Given the description of an element on the screen output the (x, y) to click on. 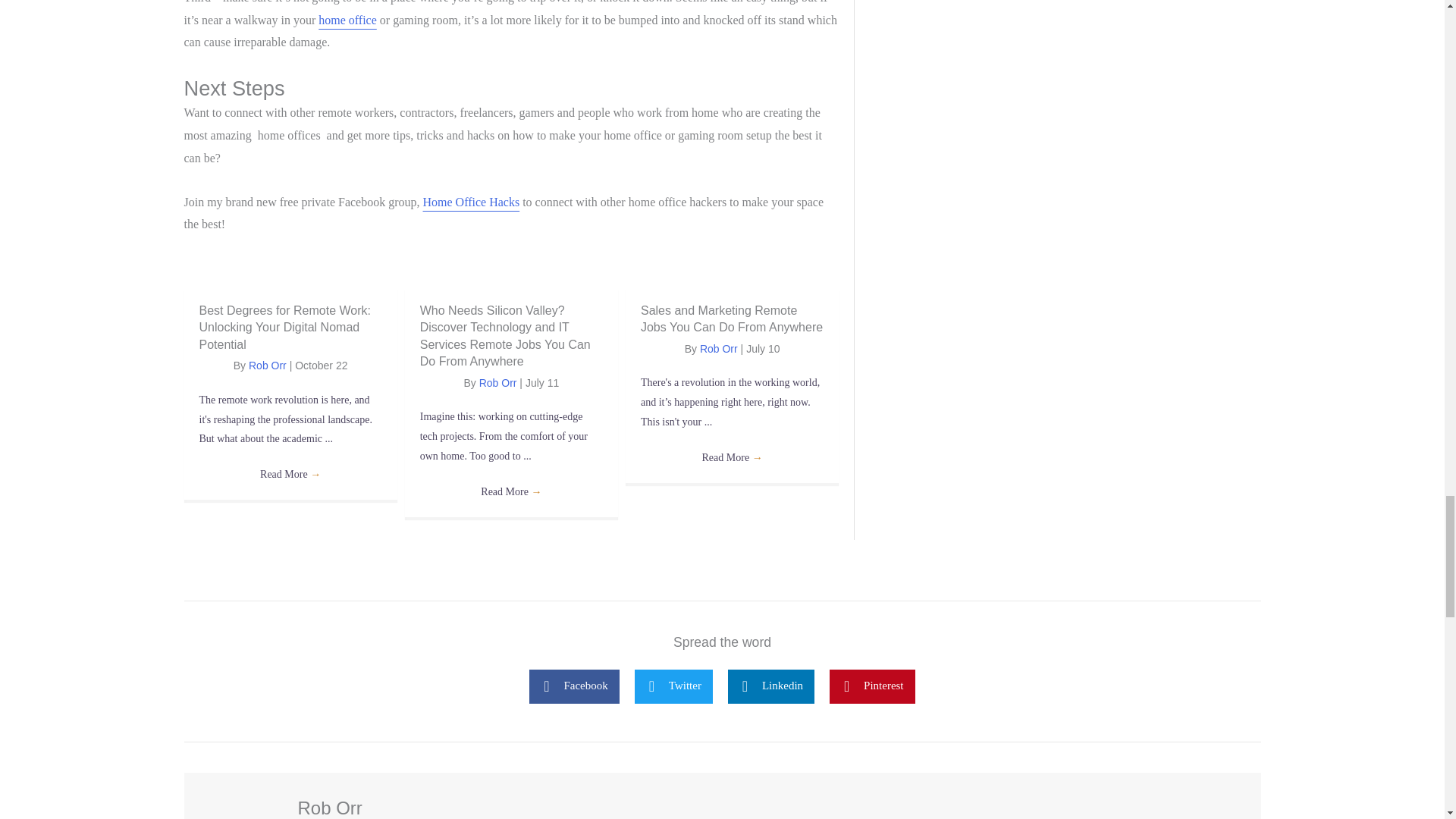
Rob Orr (267, 365)
Home Office Hacks (471, 201)
Rob Orr (497, 382)
Sales and Marketing Remote Jobs You Can Do From Anywhere (731, 318)
home office (347, 19)
